Given the description of an element on the screen output the (x, y) to click on. 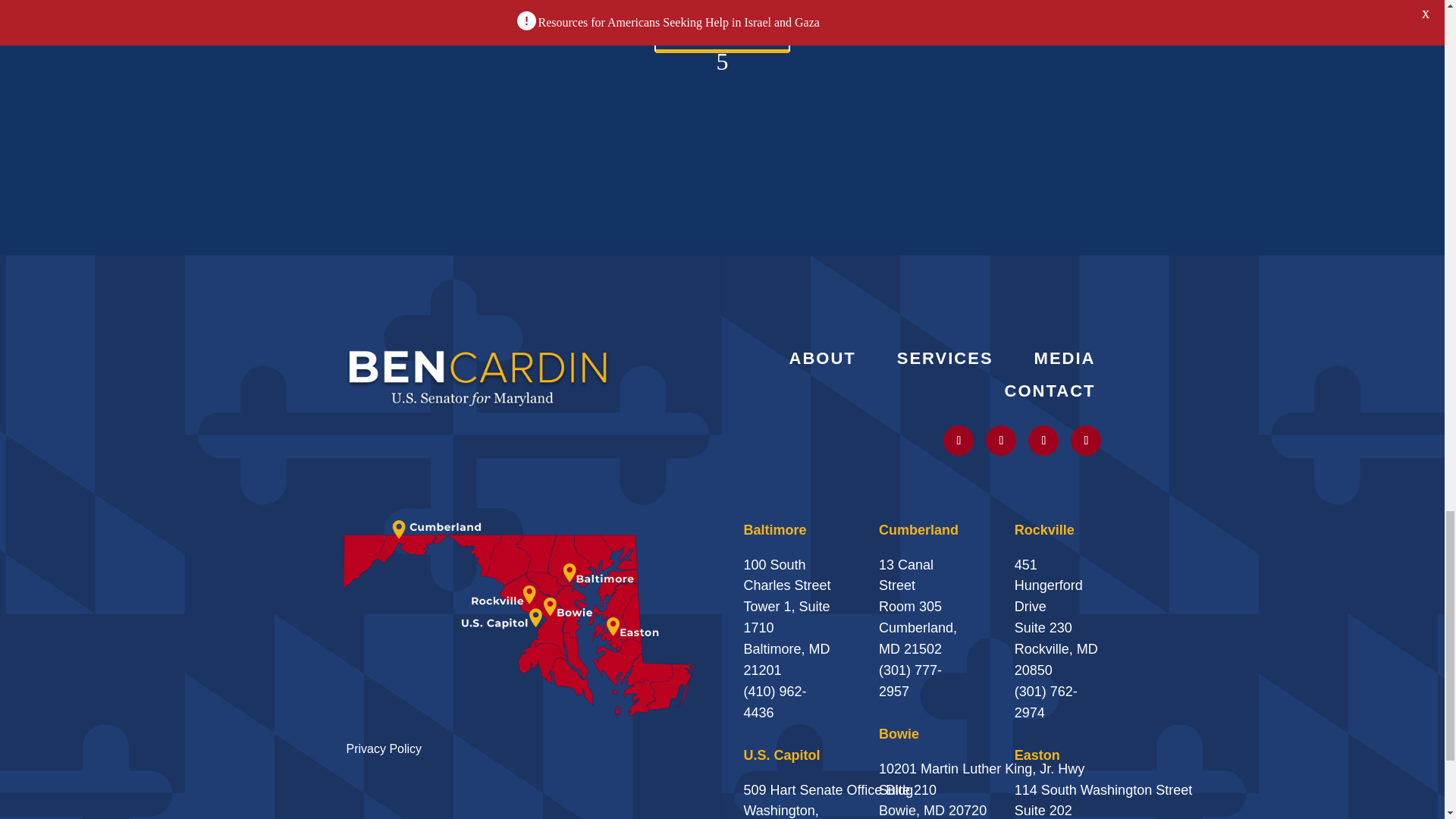
Follow on Facebook (1085, 440)
Follow on X (958, 440)
Follow on Instagram (1000, 440)
Privacy Policy (384, 748)
Follow on Youtube (1042, 440)
Footer (478, 376)
